Given the description of an element on the screen output the (x, y) to click on. 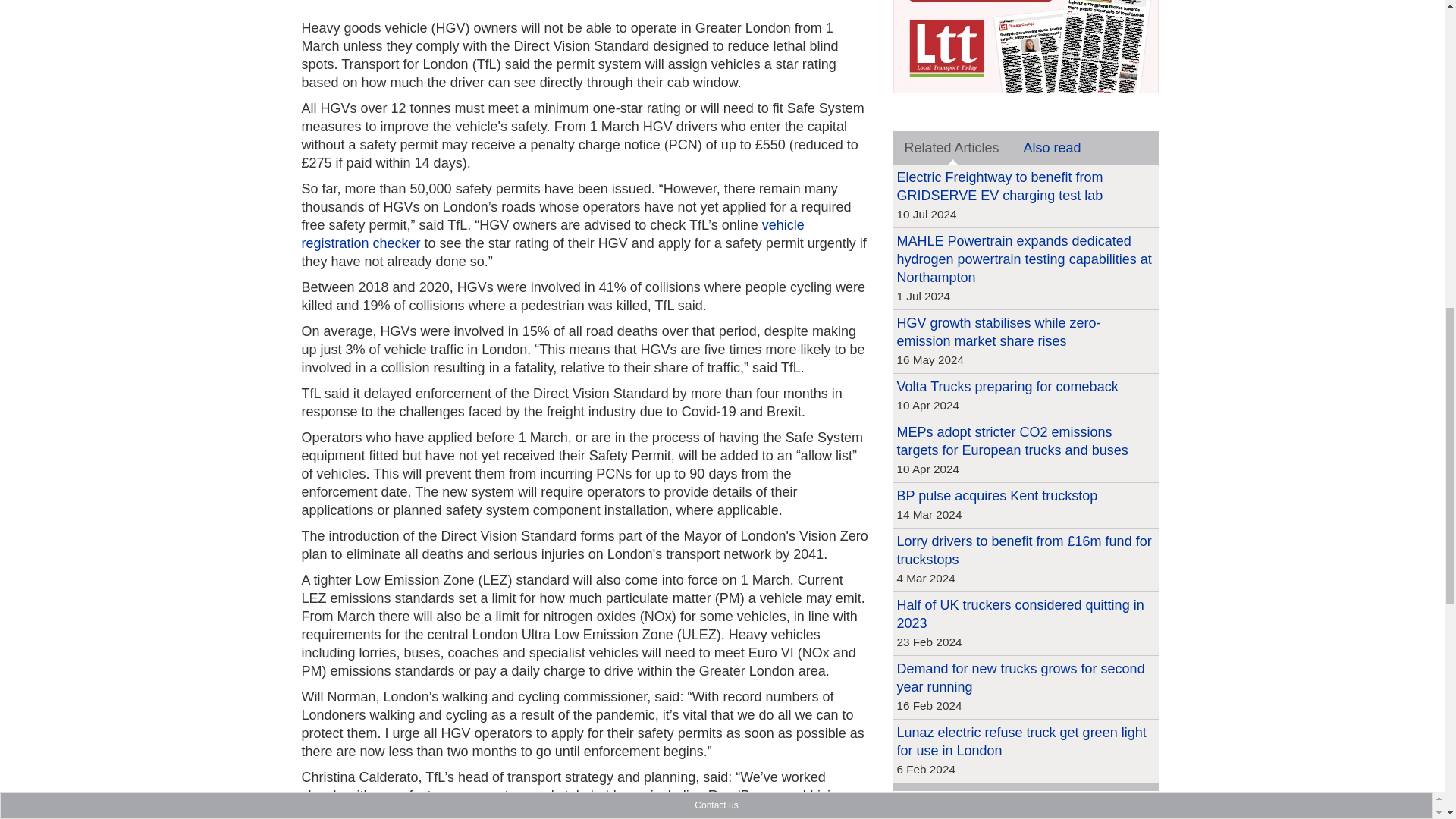
Read more about BP pulse acquires Kent truckstop (996, 495)
Subscribe to LTT (1025, 1)
Read more about Volta Trucks preparing for comeback (1007, 386)
